Given the description of an element on the screen output the (x, y) to click on. 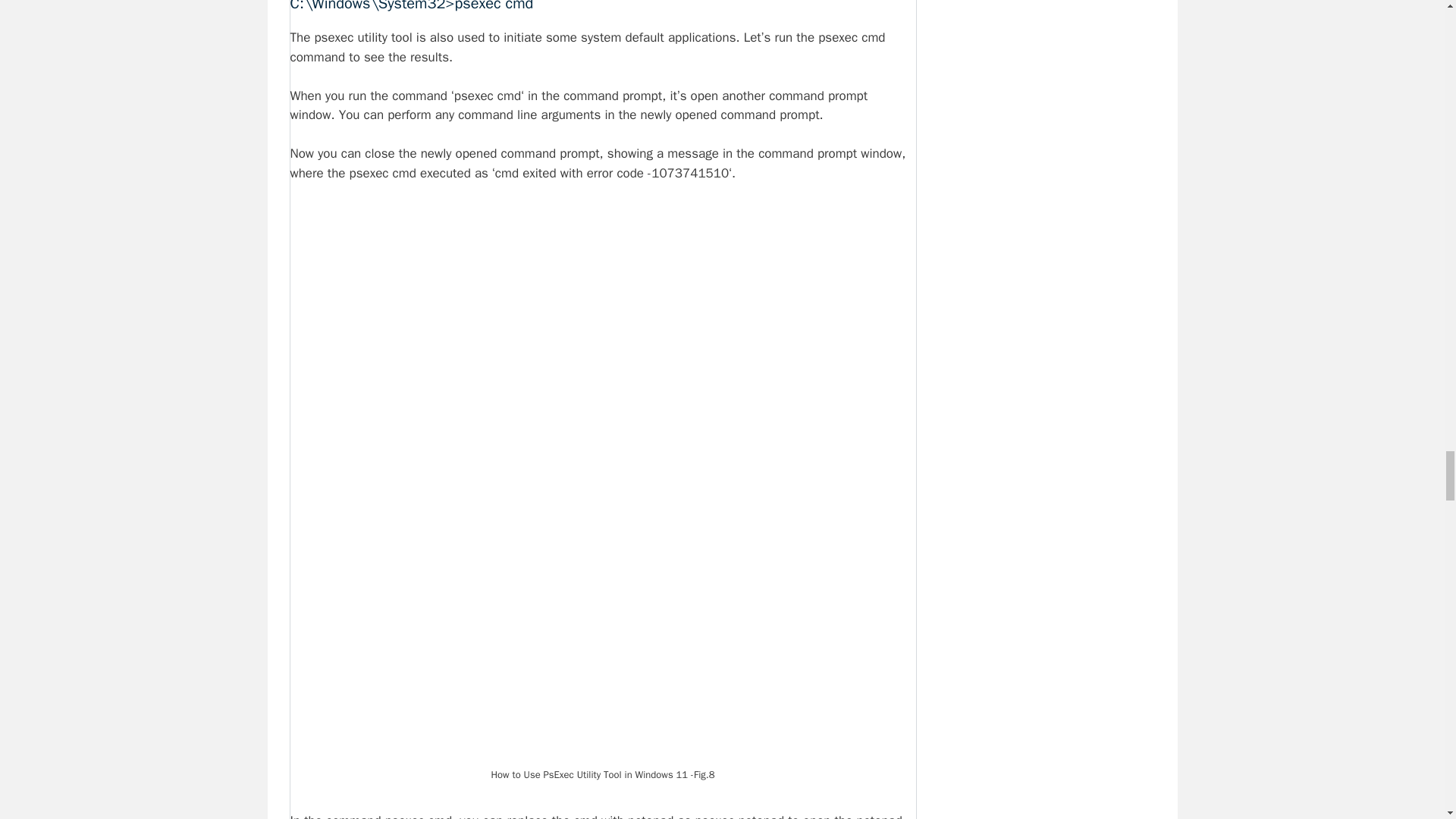
How to Use PsExec Utility Tool in Windows 11 8 (602, 580)
